Given the description of an element on the screen output the (x, y) to click on. 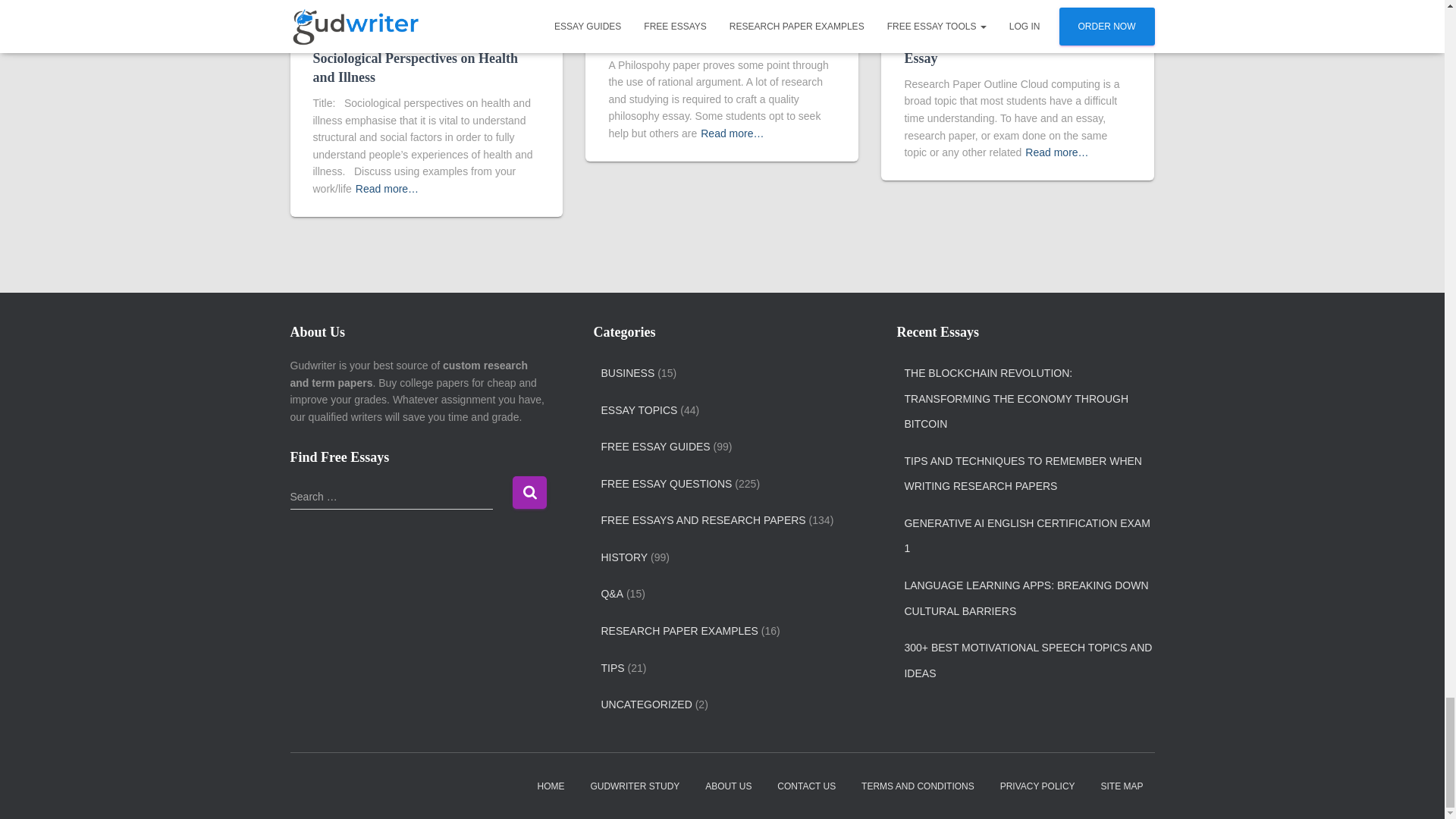
Search (529, 491)
View all posts in Research Paper Examples (675, 14)
BUSINESS (626, 373)
Search (529, 491)
View all posts in Research Paper Examples (379, 14)
Cloud Computing Research Paper and Essay (1016, 48)
Philosophy Research Paper Example (715, 38)
RESEARCH PAPER EXAMPLES (379, 14)
